Given the description of an element on the screen output the (x, y) to click on. 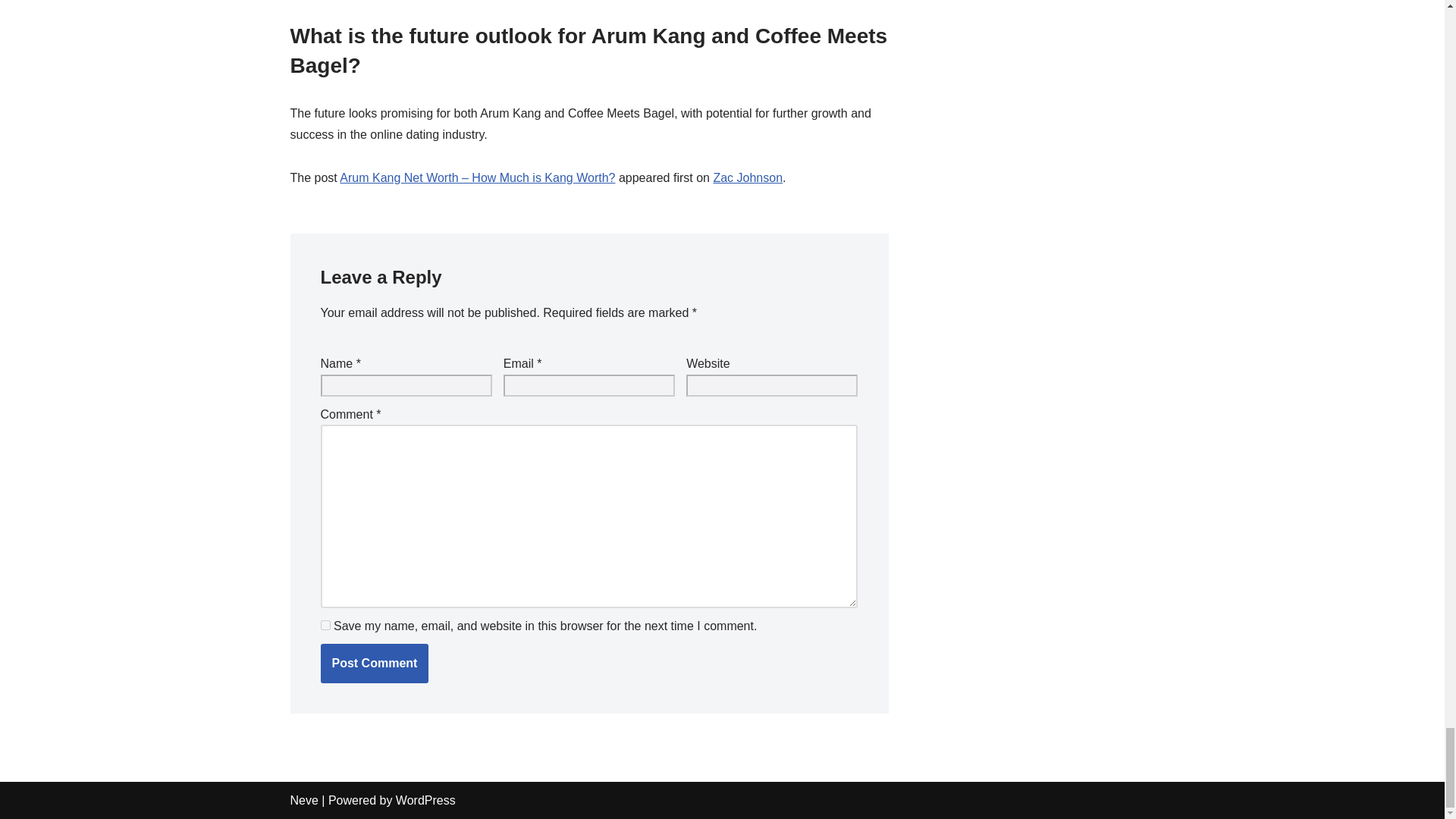
WordPress (425, 799)
Post Comment (374, 663)
yes (325, 624)
Neve (303, 799)
Post Comment (374, 663)
Zac Johnson (748, 177)
